Given the description of an element on the screen output the (x, y) to click on. 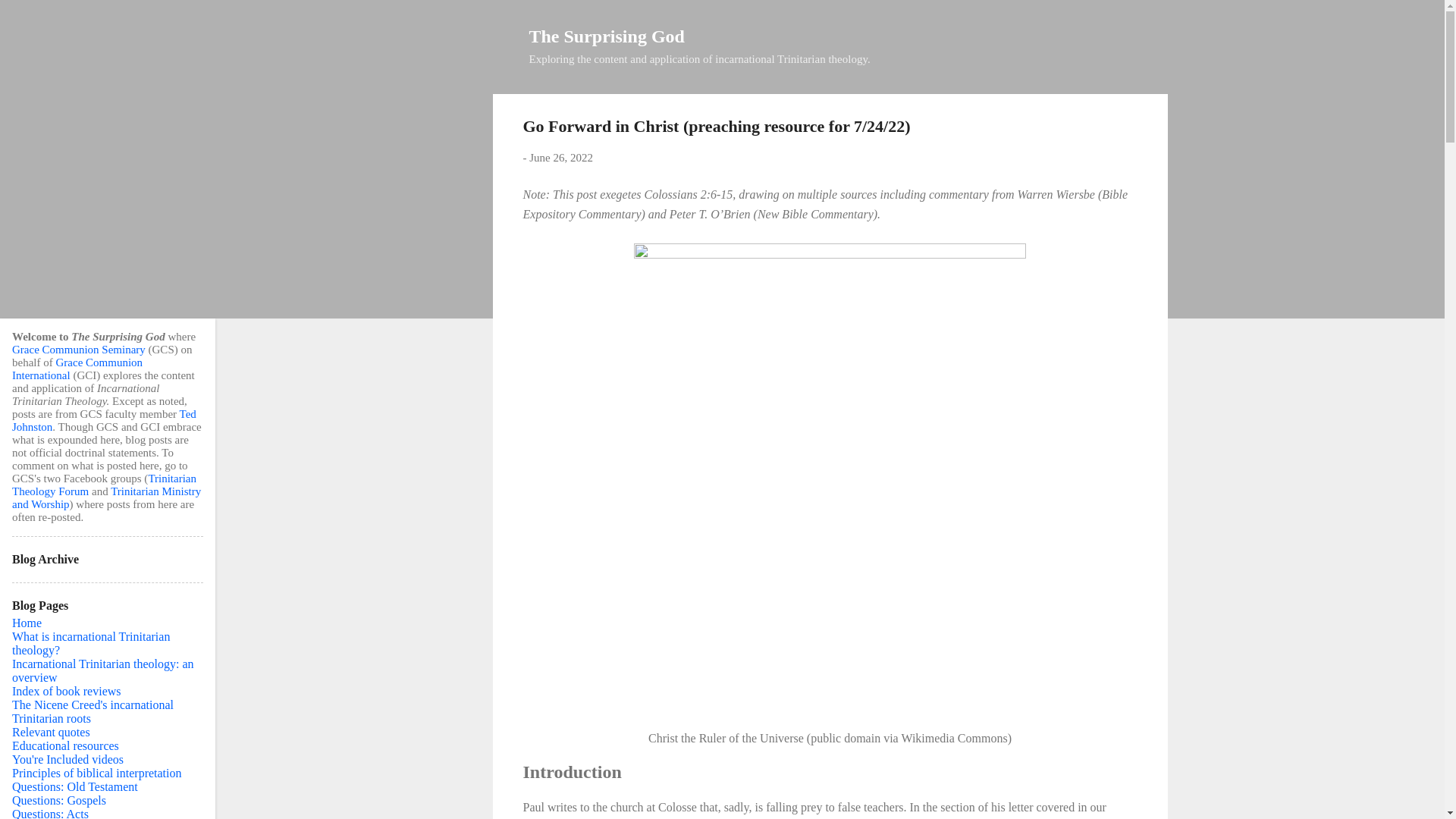
Trinitarian Ministry and Worship (105, 497)
The Surprising God (606, 35)
Trinitarian Theology Forum (103, 484)
Grace Communion International (76, 368)
Grace Communion Seminary (78, 349)
June 26, 2022 (560, 157)
Ted Johnston (103, 420)
permanent link (560, 157)
Search (29, 18)
